Given the description of an element on the screen output the (x, y) to click on. 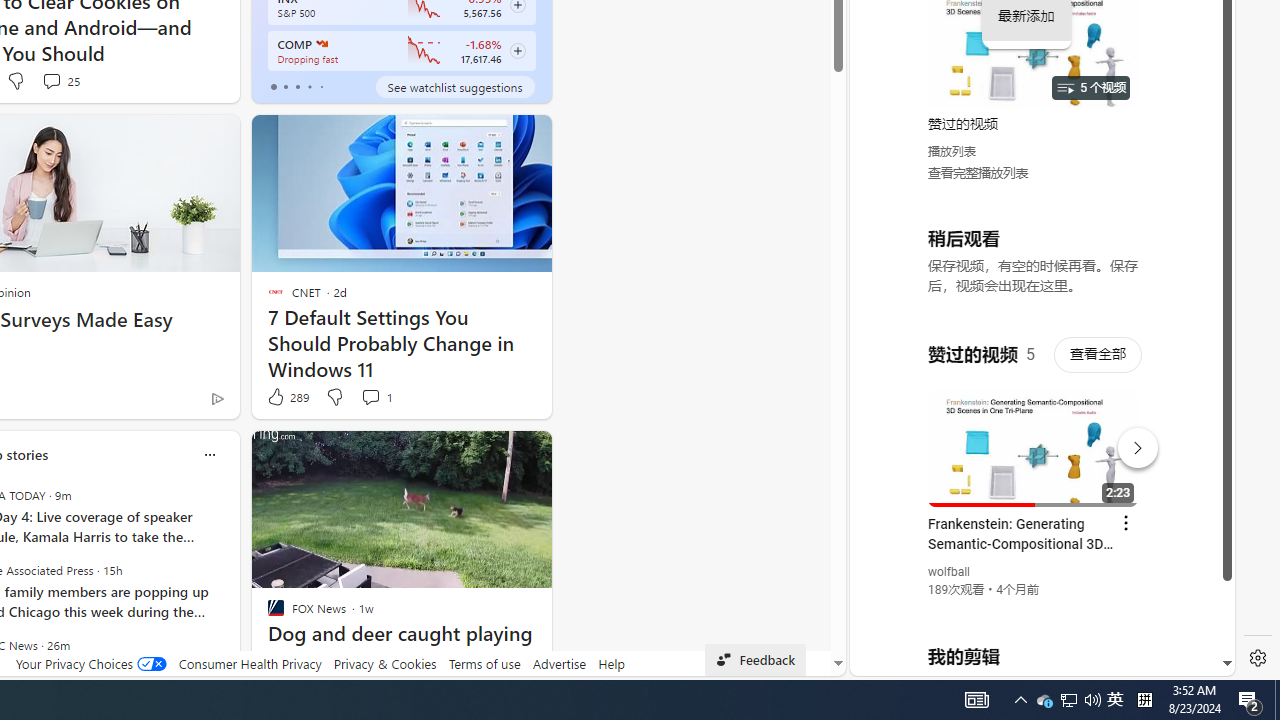
Actions for this site (1131, 443)
YouTube - YouTube (1034, 266)
tab-3 (309, 86)
tab-0 (273, 86)
#you (1034, 439)
289 Like (287, 397)
